Given the description of an element on the screen output the (x, y) to click on. 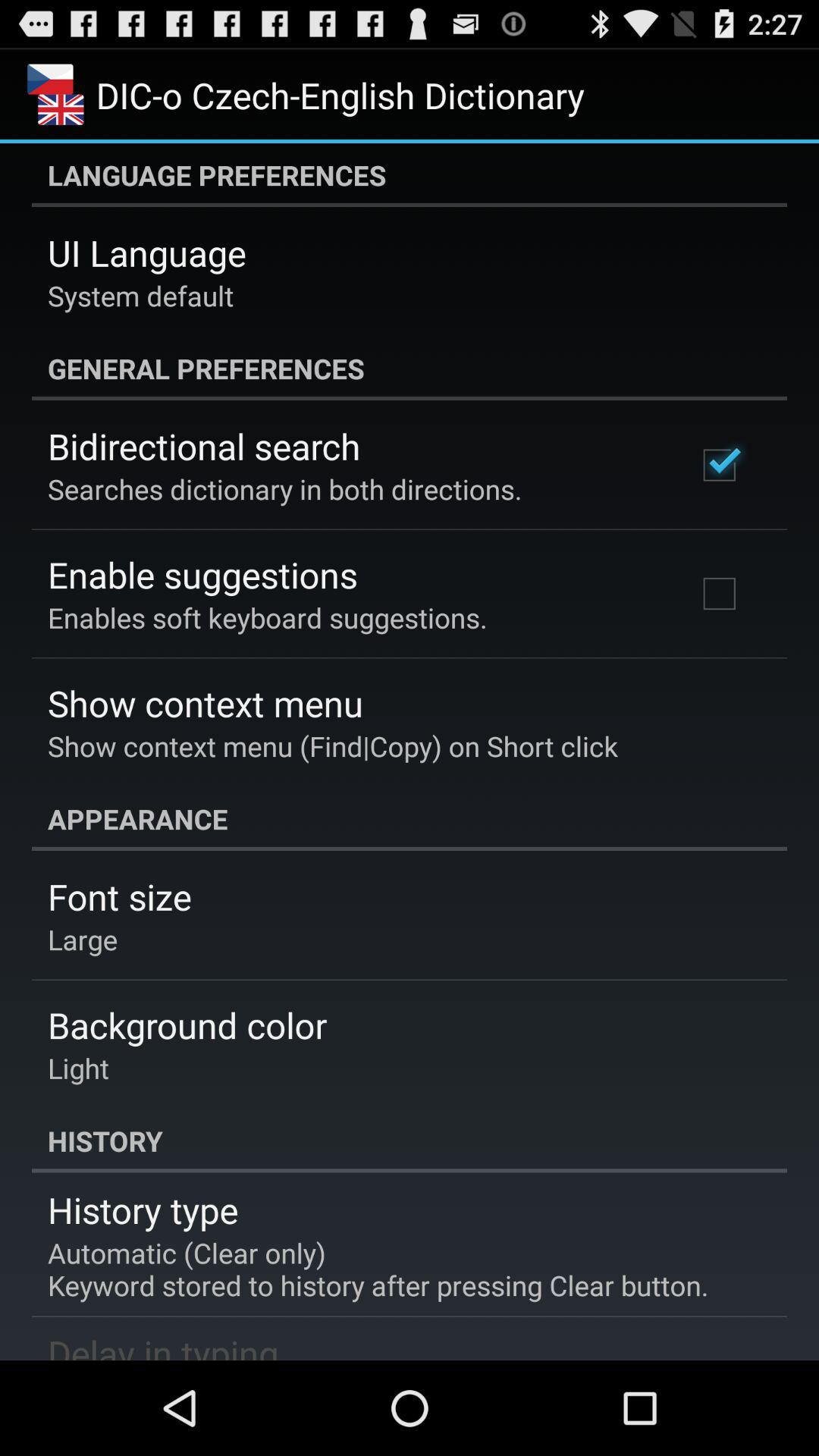
launch the item above enables soft keyboard (202, 574)
